Given the description of an element on the screen output the (x, y) to click on. 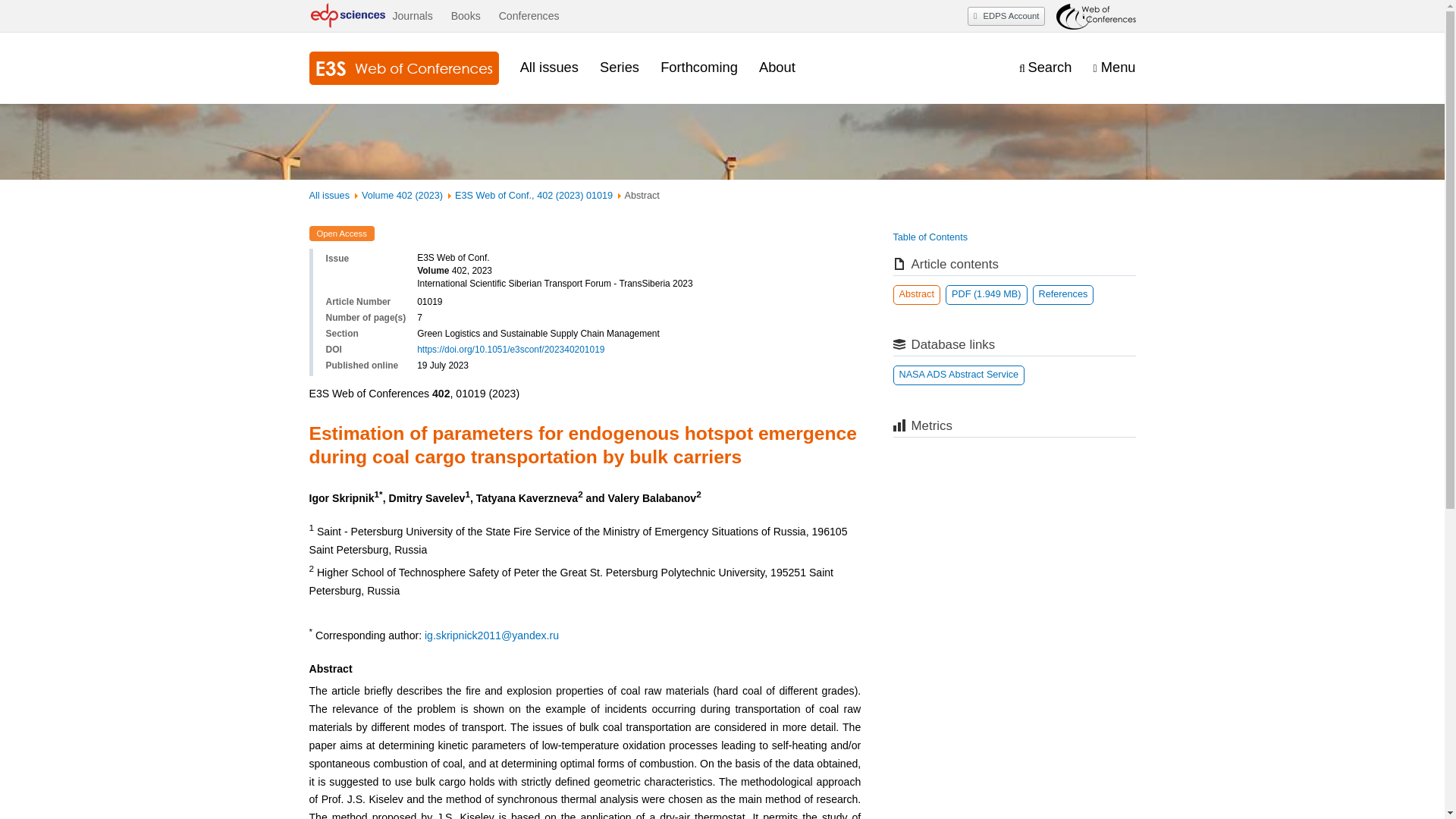
Books (465, 16)
Conferences (529, 16)
References (1063, 294)
Display the search engine (1045, 67)
About (776, 67)
All issues (548, 67)
Menu (1114, 67)
Abstract (916, 294)
Journal homepage (403, 67)
Forthcoming (699, 67)
Journals (411, 16)
All issues (328, 195)
Series (619, 67)
